Given the description of an element on the screen output the (x, y) to click on. 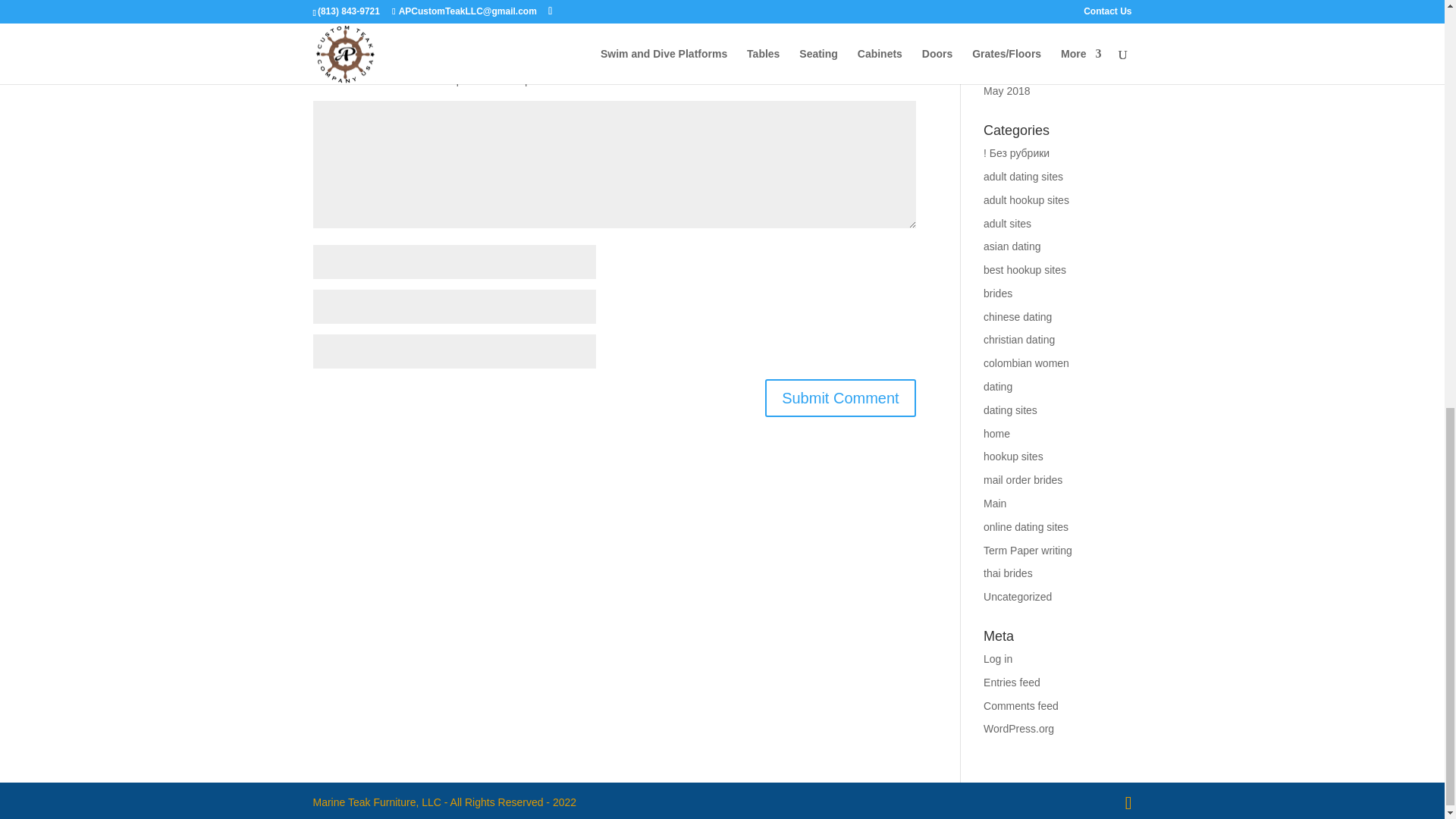
Submit Comment (840, 397)
Submit Comment (840, 397)
